Given the description of an element on the screen output the (x, y) to click on. 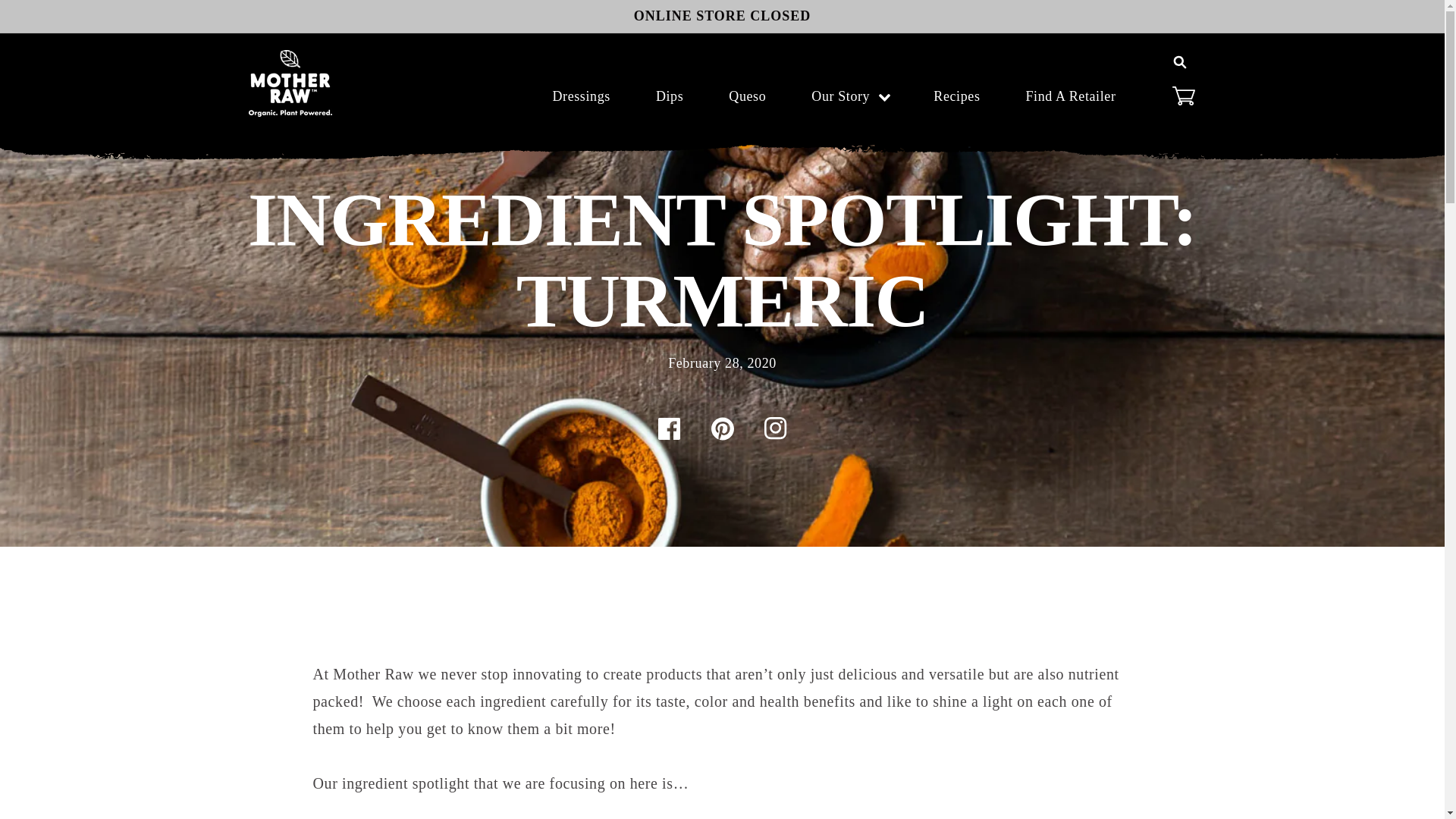
SKIP TO CONTENT (90, 20)
Queso (747, 96)
Find A Retailer (1070, 96)
Dips (669, 96)
Cart (1183, 95)
Recipes (957, 96)
Dressings (580, 96)
Our Story (830, 96)
